Given the description of an element on the screen output the (x, y) to click on. 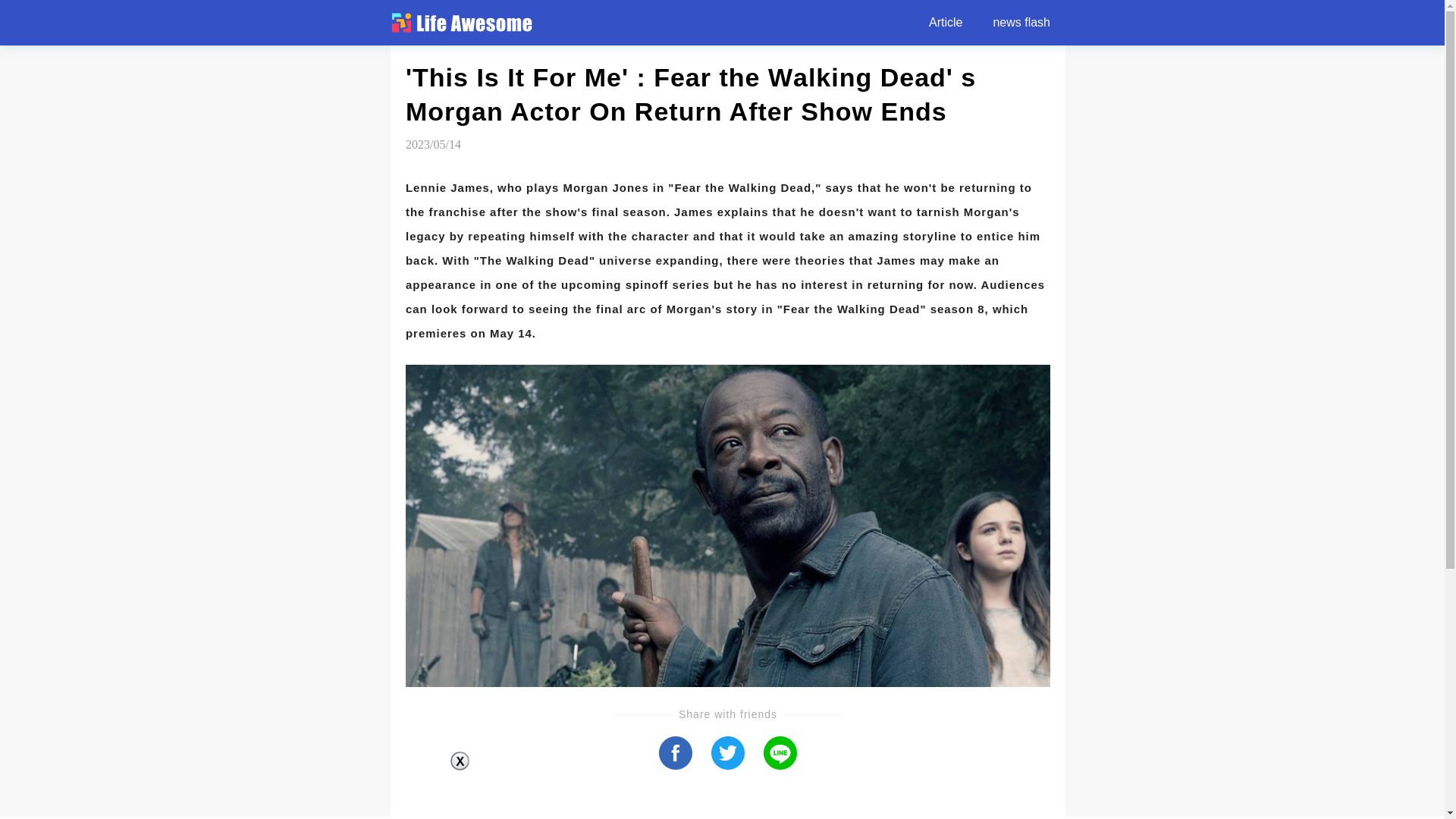
Article Element type: text (945, 22)
news flash Element type: text (1021, 22)
